Given the description of an element on the screen output the (x, y) to click on. 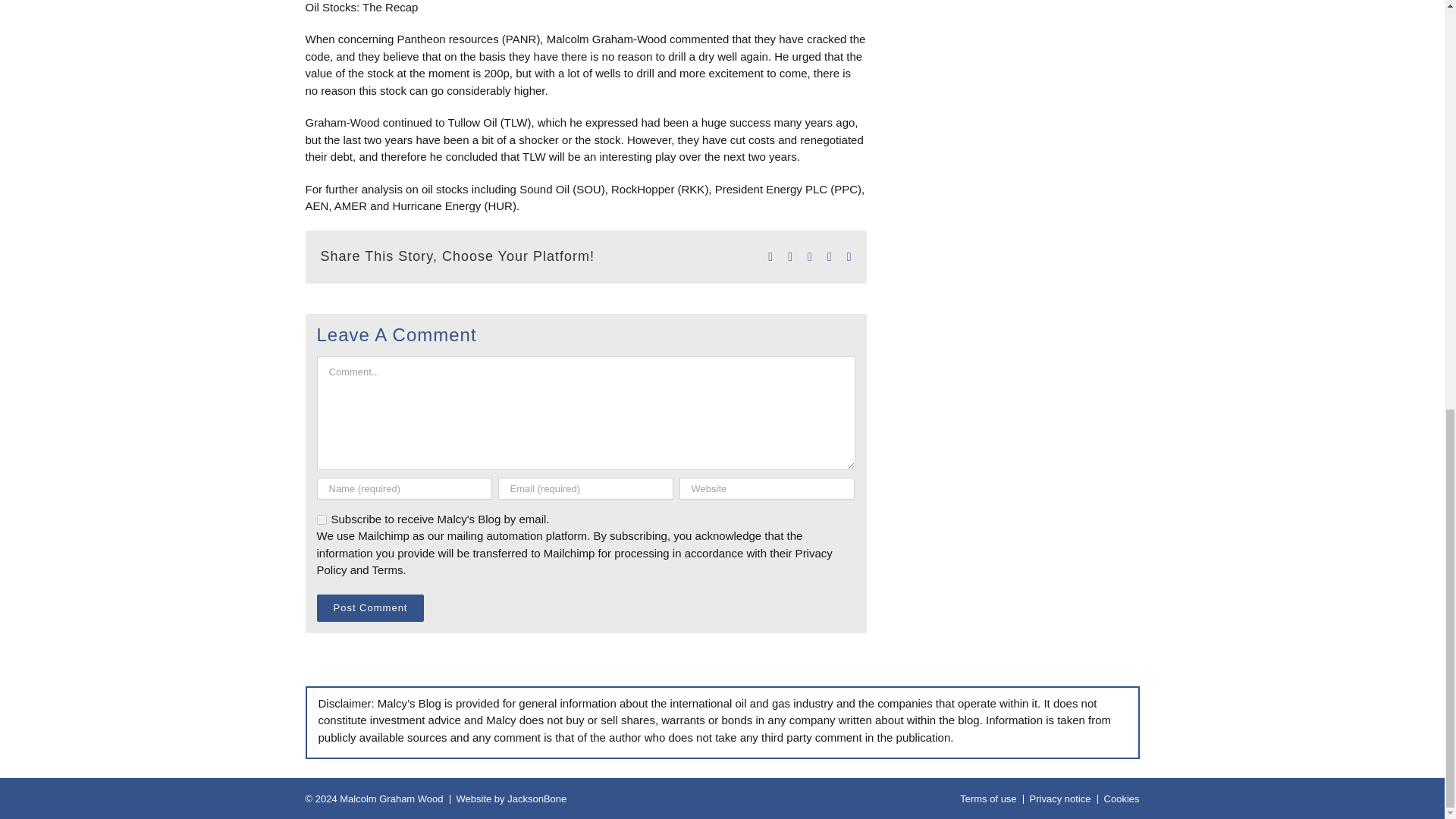
1 (321, 519)
JacksonBone (536, 798)
Privacy notice (1059, 798)
Post Comment (371, 606)
Cookies (1121, 798)
Post Comment (371, 606)
Terms of use (987, 798)
